Given the description of an element on the screen output the (x, y) to click on. 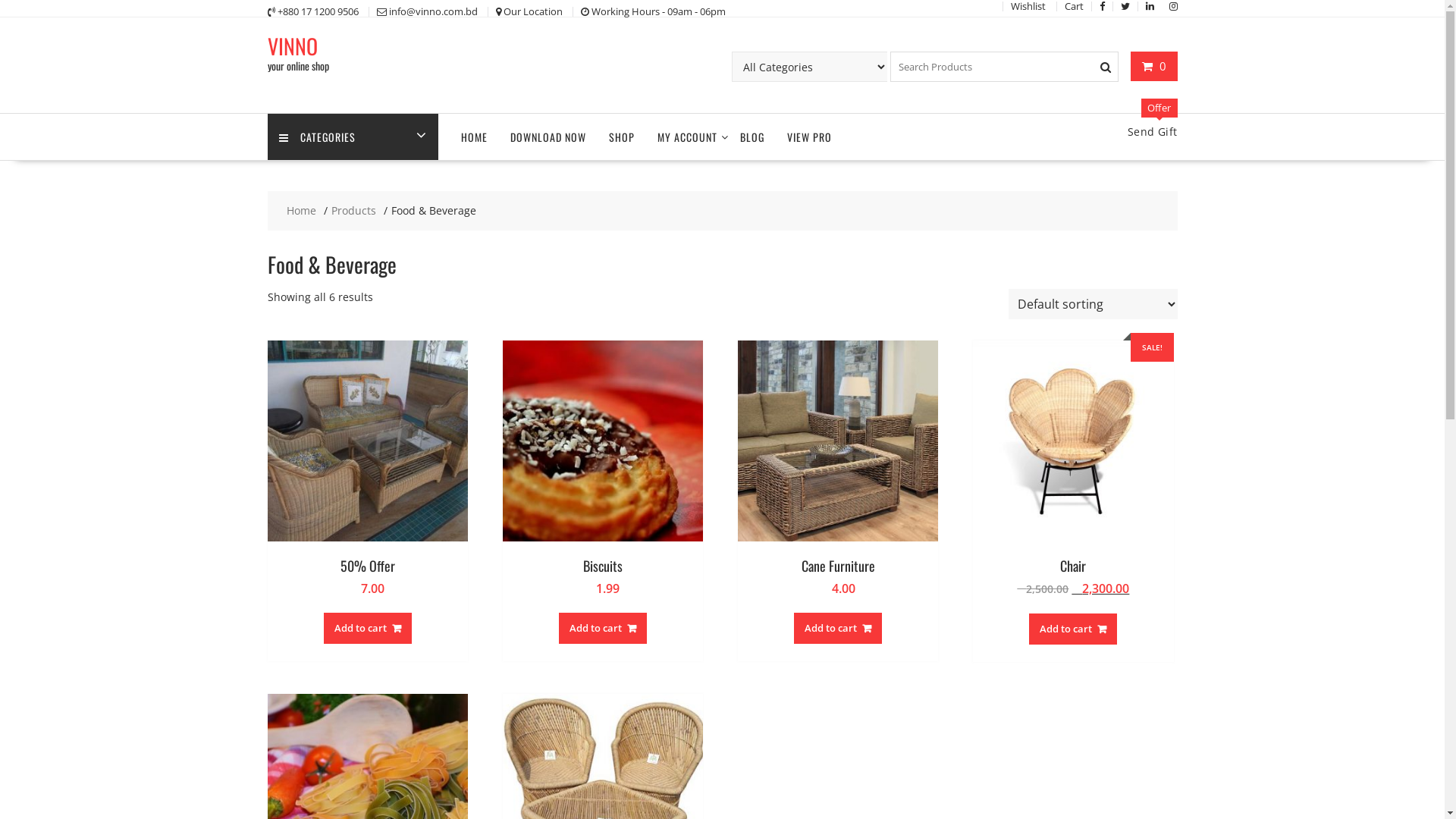
Offer
Send Gift Element type: text (1152, 131)
Add to cart Element type: text (367, 627)
DOWNLOAD NOW Element type: text (547, 136)
Add to cart Element type: text (602, 627)
Add to cart Element type: text (1073, 628)
Products Element type: text (352, 210)
VINNO Element type: text (291, 45)
Add to cart Element type: text (837, 627)
BLOG Element type: text (751, 136)
Home Element type: text (301, 210)
HOME Element type: text (473, 136)
CATEGORIES Element type: text (351, 136)
+880 17 1200 9506 Element type: text (317, 11)
Working Hours - 09am - 06pm Element type: text (658, 11)
0 Element type: text (1154, 65)
MY ACCOUNT Element type: text (687, 136)
info@vinno.com.bd Element type: text (432, 11)
VIEW PRO Element type: text (808, 136)
Our Location Element type: text (532, 11)
SHOP Element type: text (621, 136)
